Given the description of an element on the screen output the (x, y) to click on. 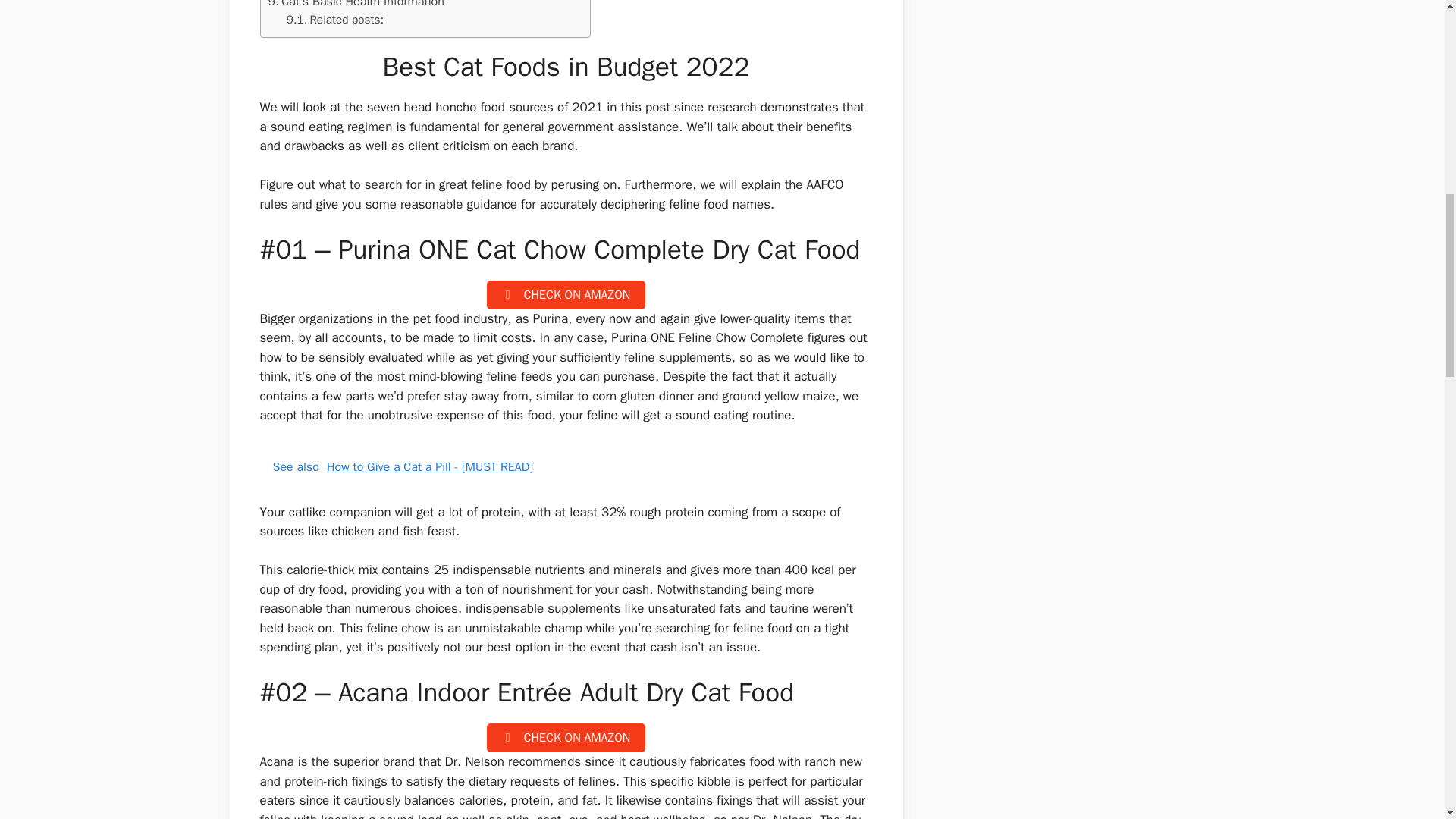
CHECK ON AMAZON (565, 737)
Related posts: (335, 19)
Related posts: (335, 19)
CHECK ON AMAZON (565, 294)
